Given the description of an element on the screen output the (x, y) to click on. 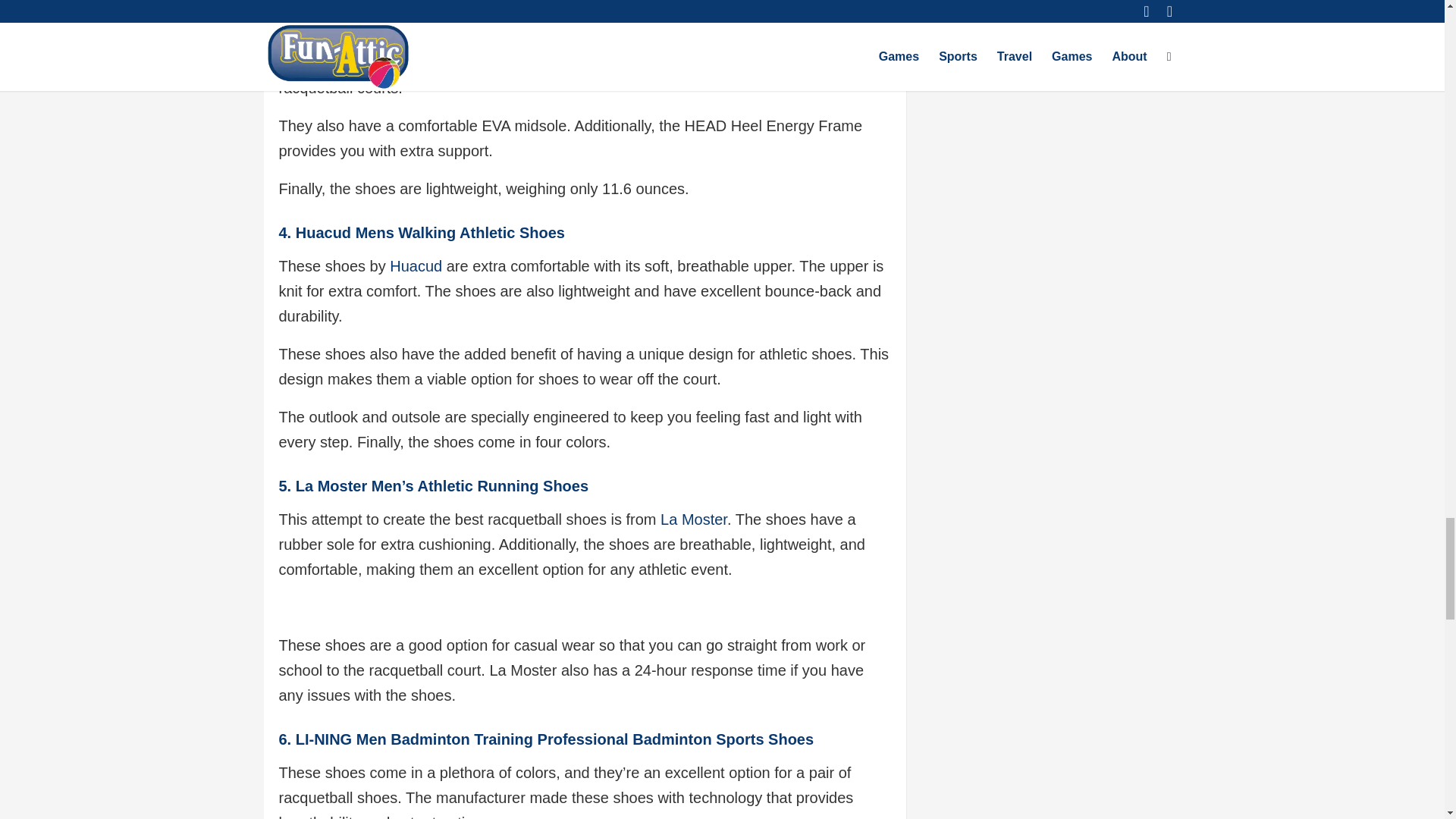
HEAD (714, 37)
La Moster (693, 519)
attempt (336, 37)
Huacud (416, 265)
